Given the description of an element on the screen output the (x, y) to click on. 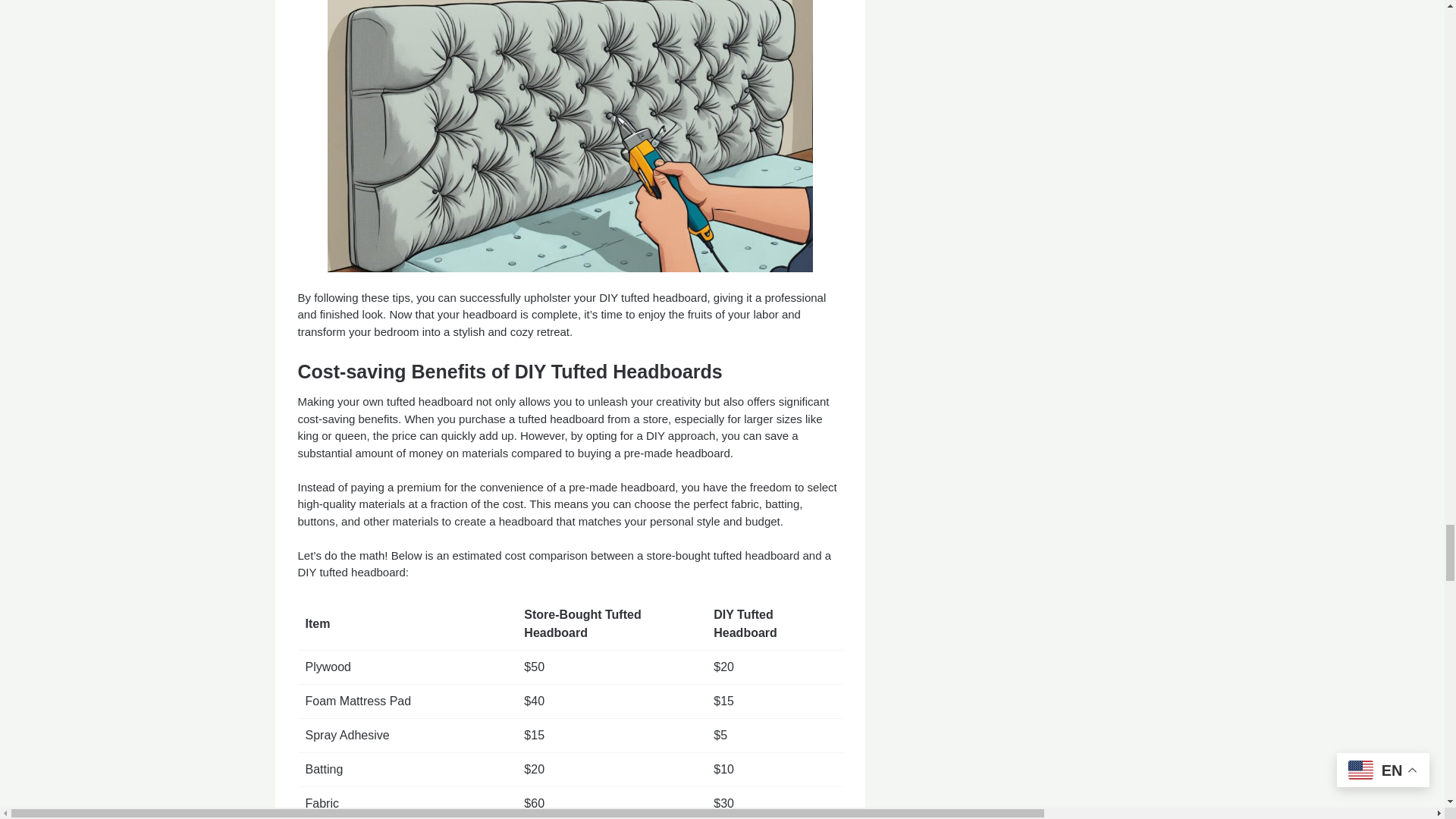
DIY upholstered headboard (569, 136)
